Given the description of an element on the screen output the (x, y) to click on. 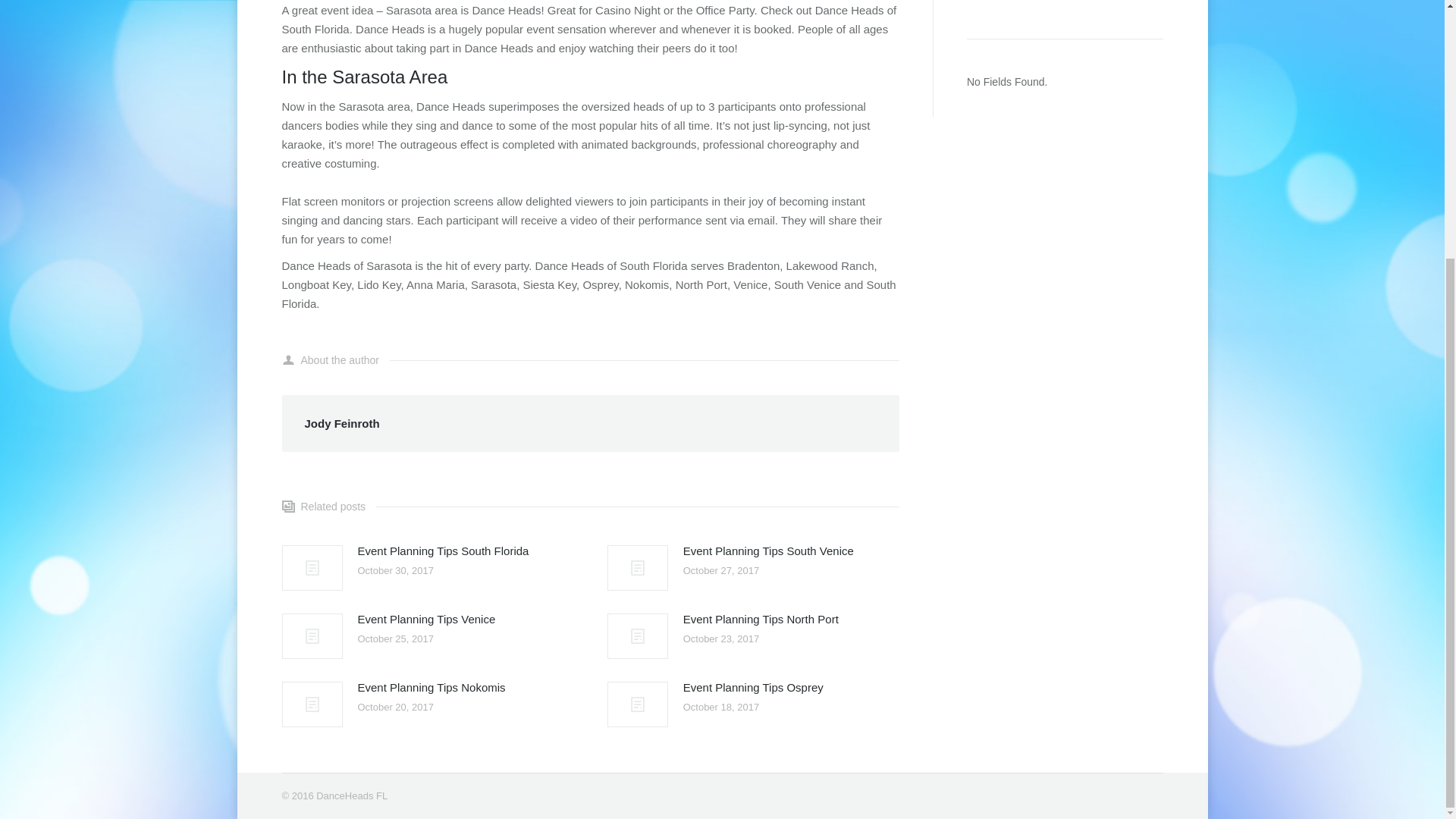
Event Planning Tips South Florida (443, 550)
Event Planning Tips South Venice (767, 550)
